Given the description of an element on the screen output the (x, y) to click on. 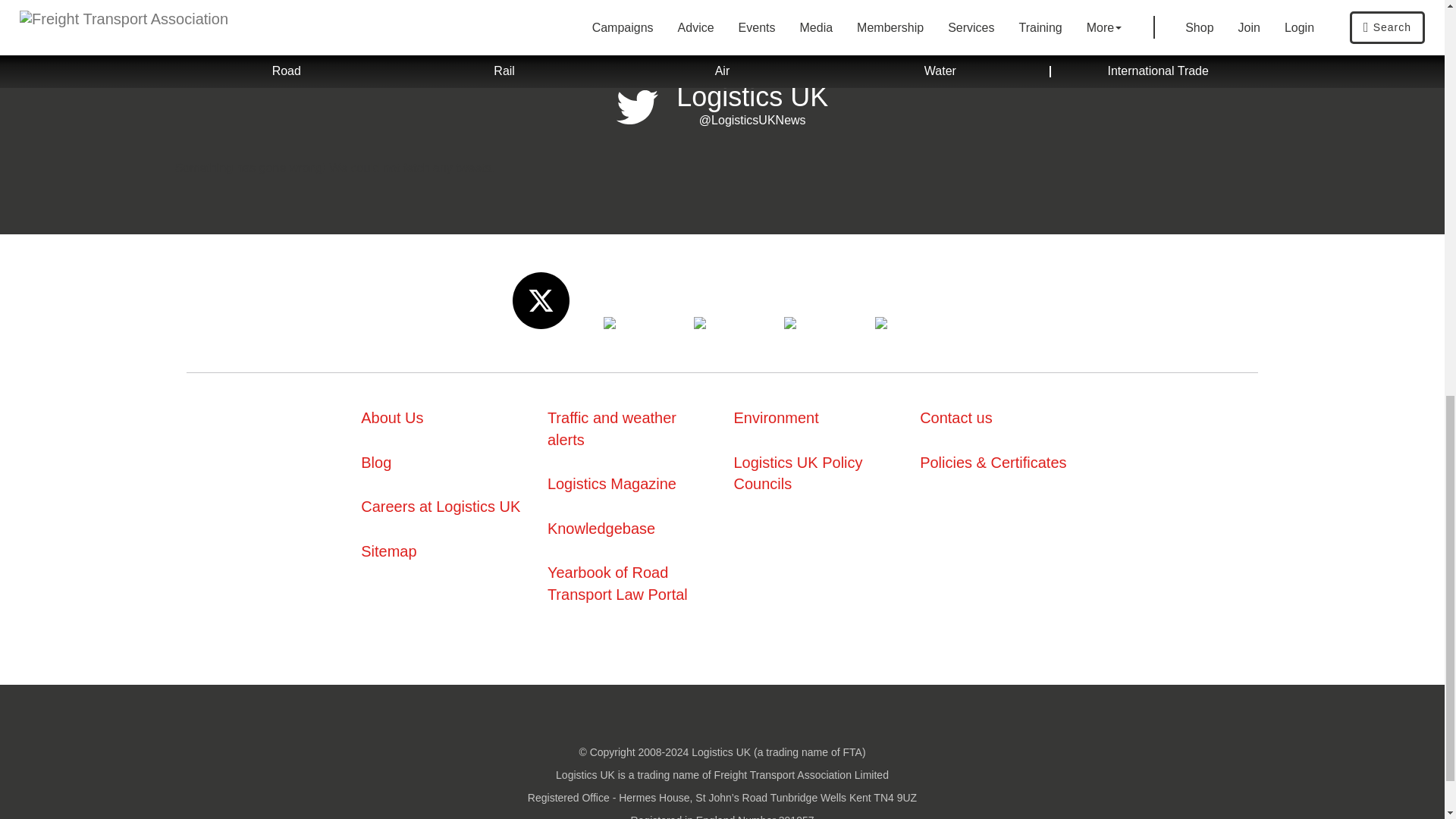
About Us (392, 417)
